Given the description of an element on the screen output the (x, y) to click on. 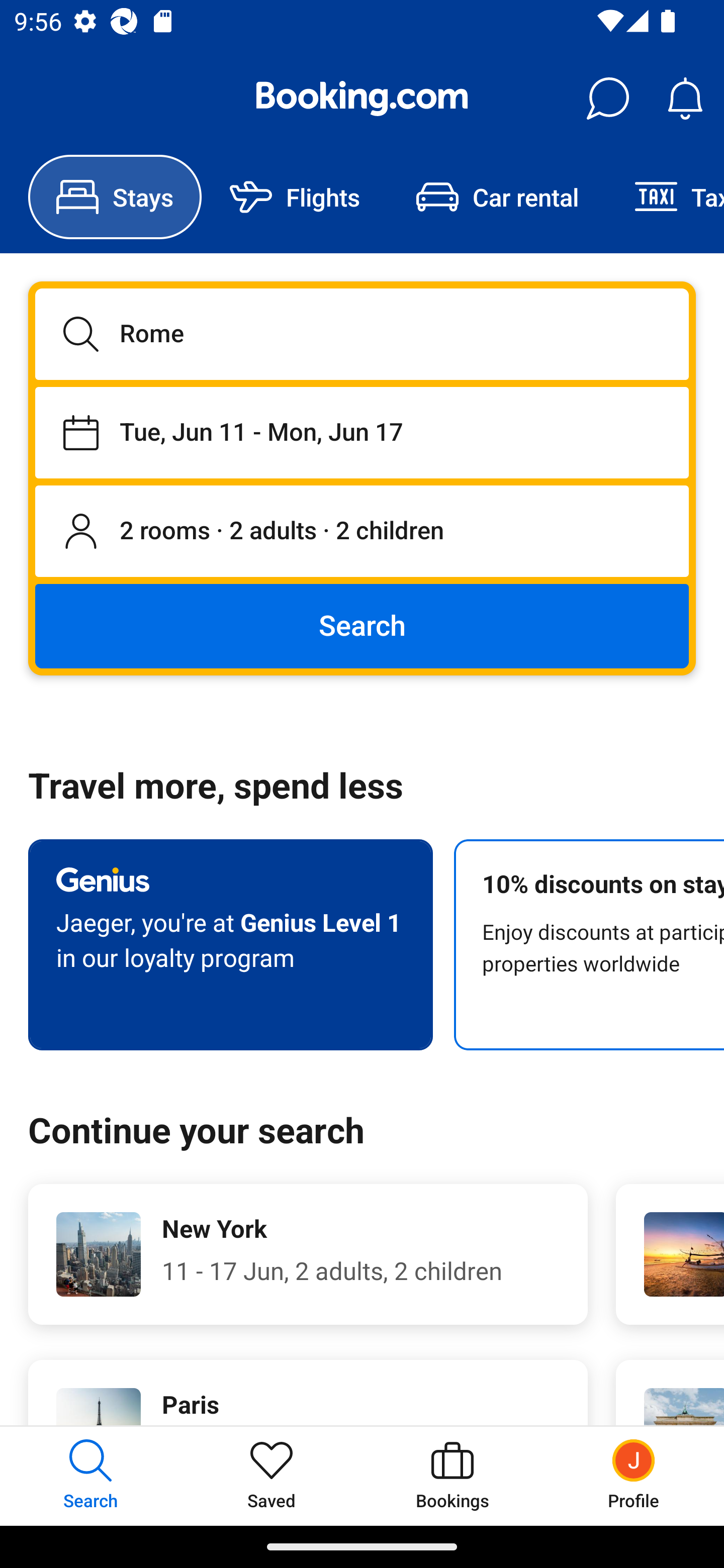
Messages (607, 98)
Notifications (685, 98)
Stays (114, 197)
Flights (294, 197)
Car rental (497, 197)
Taxi (665, 197)
Rome (361, 333)
Staying from Tue, Jun 11 until Mon, Jun 17 (361, 432)
2 rooms, 2 adults, 2 children (361, 531)
Search (361, 625)
New York 11 - 17 Jun, 2 adults, 2 children (307, 1253)
Saved (271, 1475)
Bookings (452, 1475)
Profile (633, 1475)
